Given the description of an element on the screen output the (x, y) to click on. 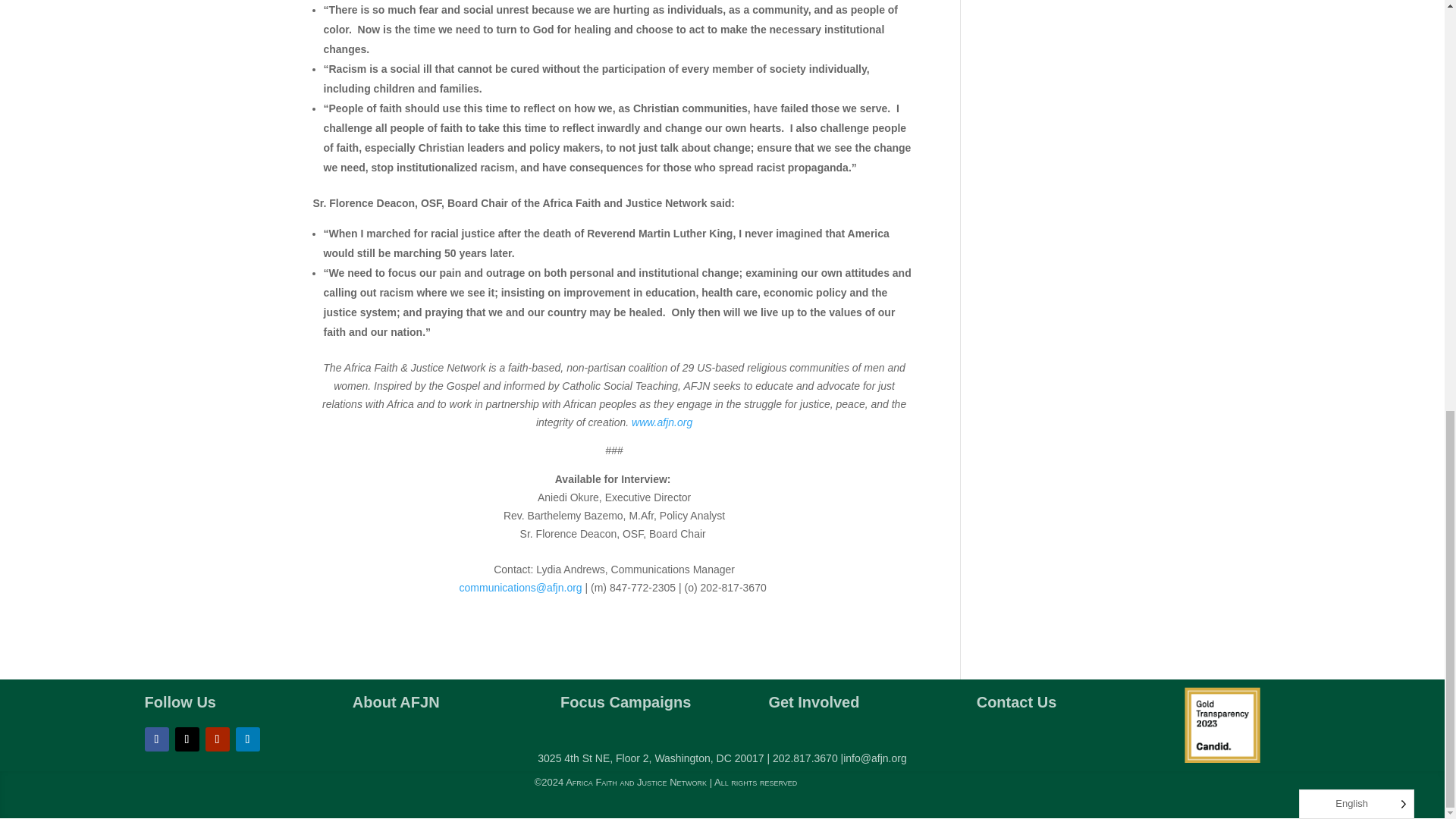
Follow on Facebook (156, 738)
Follow on Youtube (216, 738)
candid-seal-gold-2023 (1222, 724)
Follow on X (186, 738)
Follow on LinkedIn (246, 738)
